Given the description of an element on the screen output the (x, y) to click on. 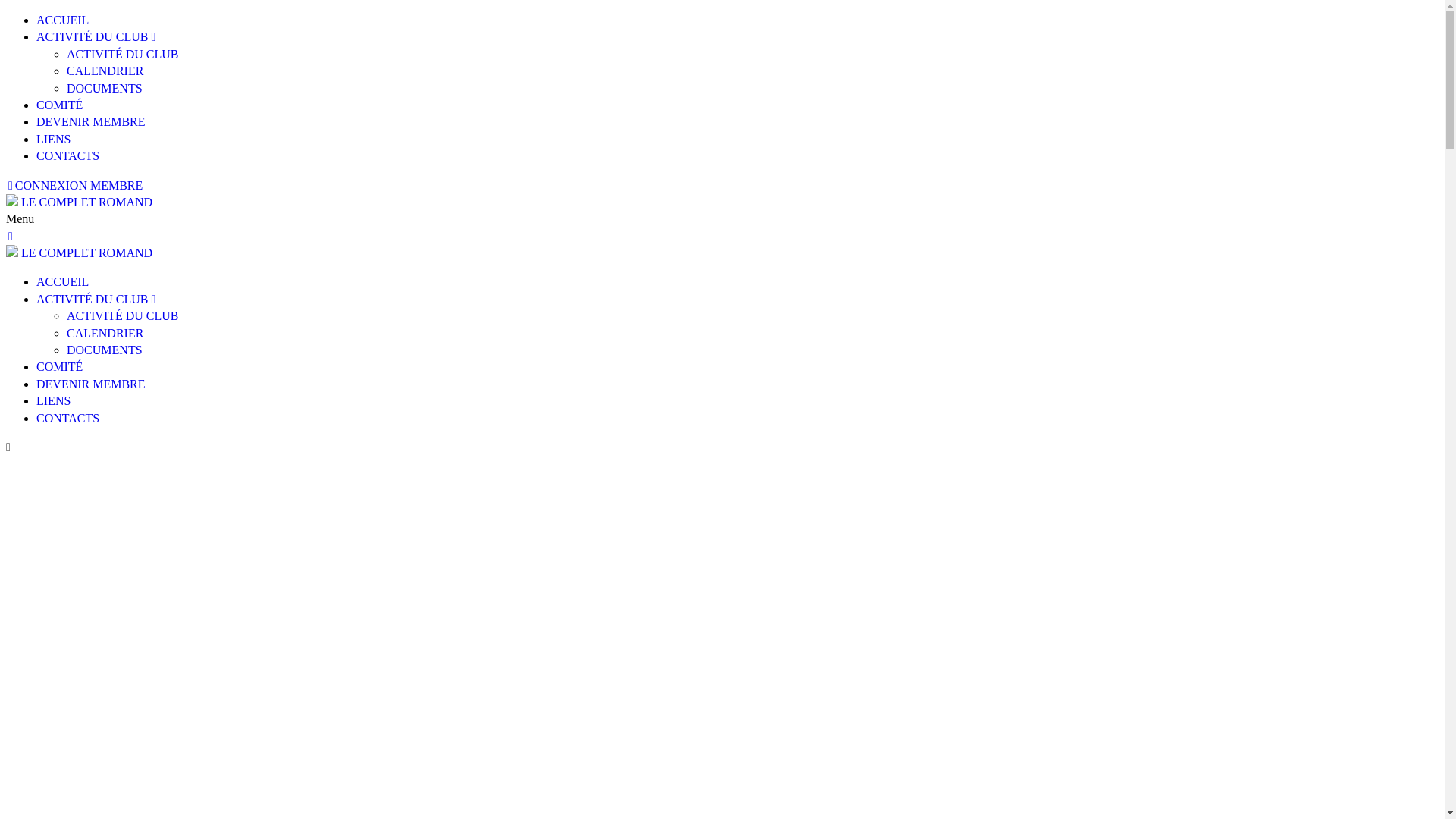
DEVENIR MEMBRE Element type: text (90, 121)
DOCUMENTS Element type: text (104, 87)
CALENDRIER Element type: text (104, 70)
LE COMPLET ROMAND Element type: text (86, 201)
DOCUMENTS Element type: text (104, 349)
ACCUEIL Element type: text (62, 281)
LIENS Element type: text (53, 138)
LIENS Element type: text (53, 400)
DEVENIR MEMBRE Element type: text (90, 383)
ACCUEIL Element type: text (62, 19)
Menu Element type: text (722, 218)
CONTACTS Element type: text (67, 155)
LE COMPLET ROMAND Element type: text (86, 252)
CALENDRIER Element type: text (104, 332)
CONTACTS Element type: text (67, 417)
CONNEXION MEMBRE Element type: text (74, 184)
